Given the description of an element on the screen output the (x, y) to click on. 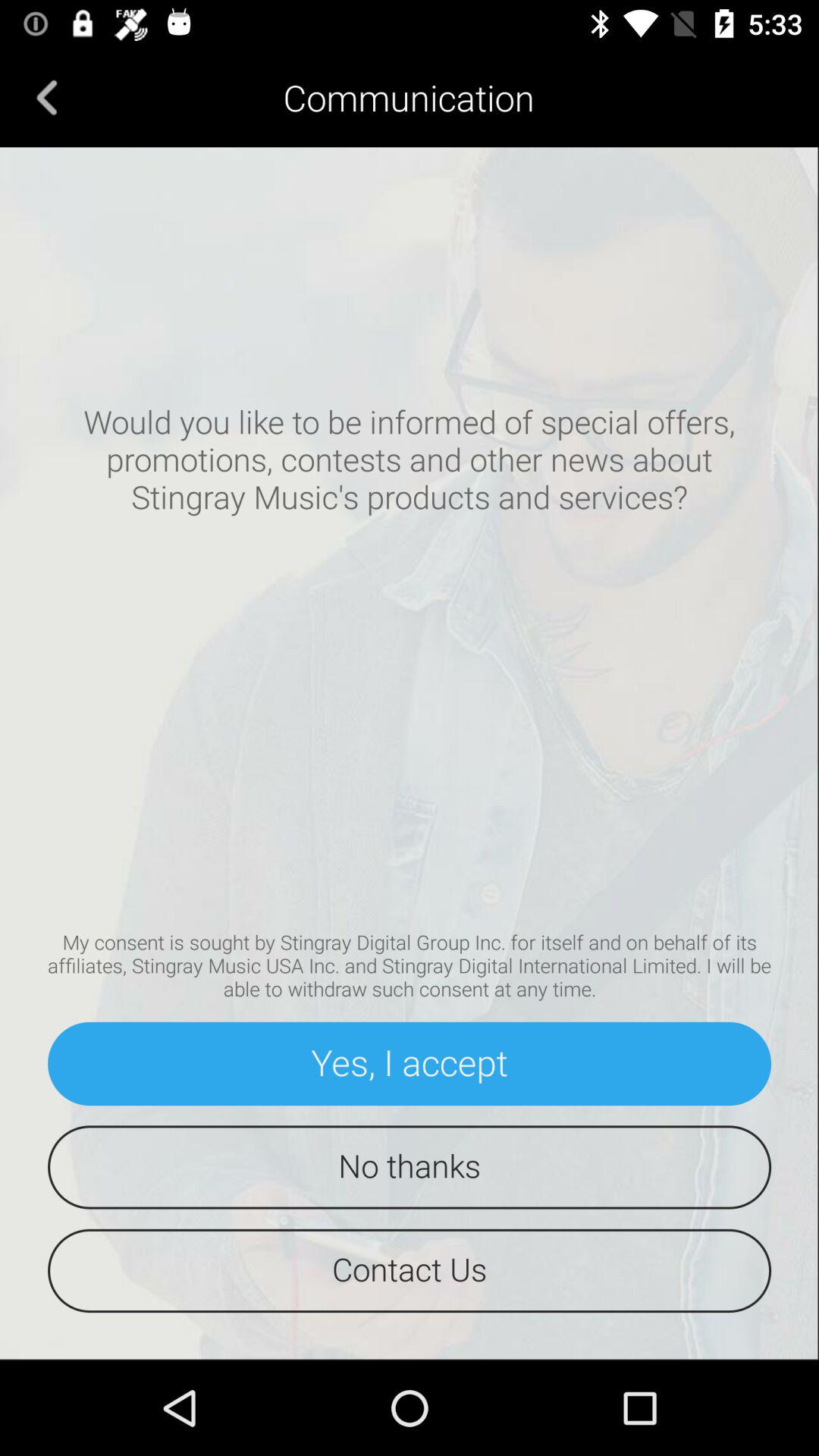
turn on the yes, i accept icon (409, 1063)
